Given the description of an element on the screen output the (x, y) to click on. 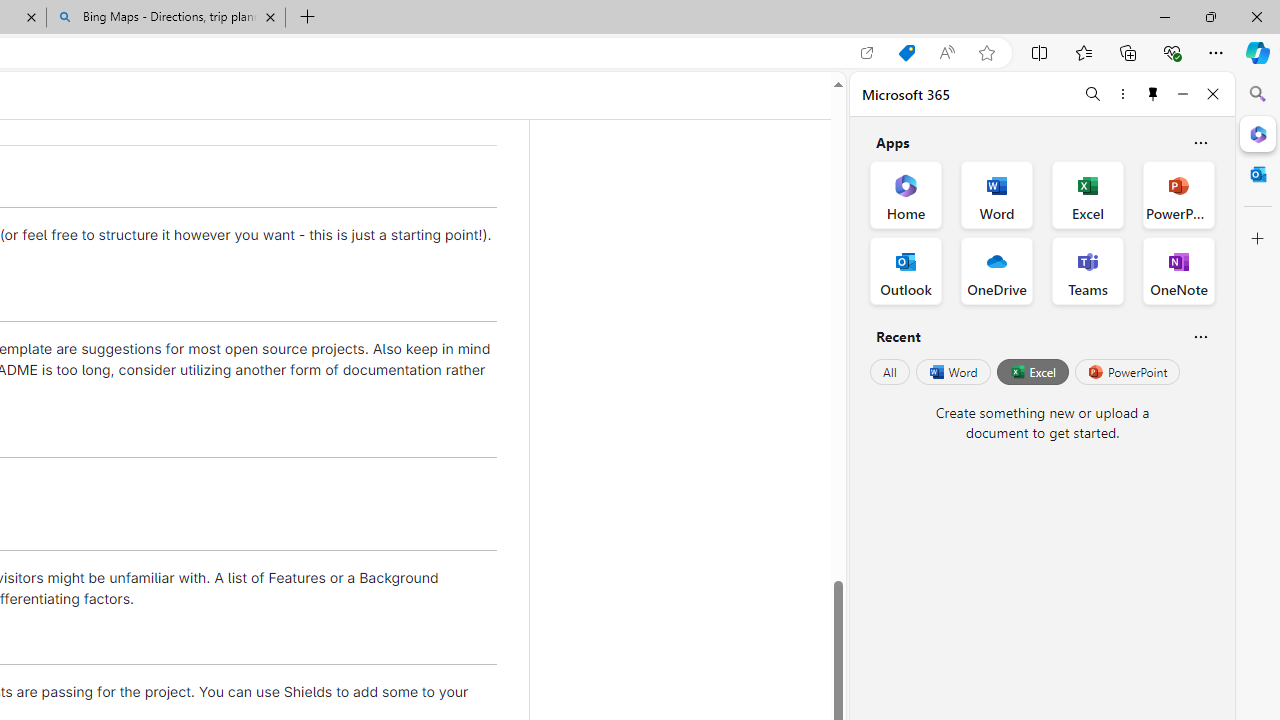
OneDrive Office App (996, 270)
Teams Office App (1087, 270)
Word Office App (996, 194)
PowerPoint (1127, 372)
Home Office App (906, 194)
